Given the description of an element on the screen output the (x, y) to click on. 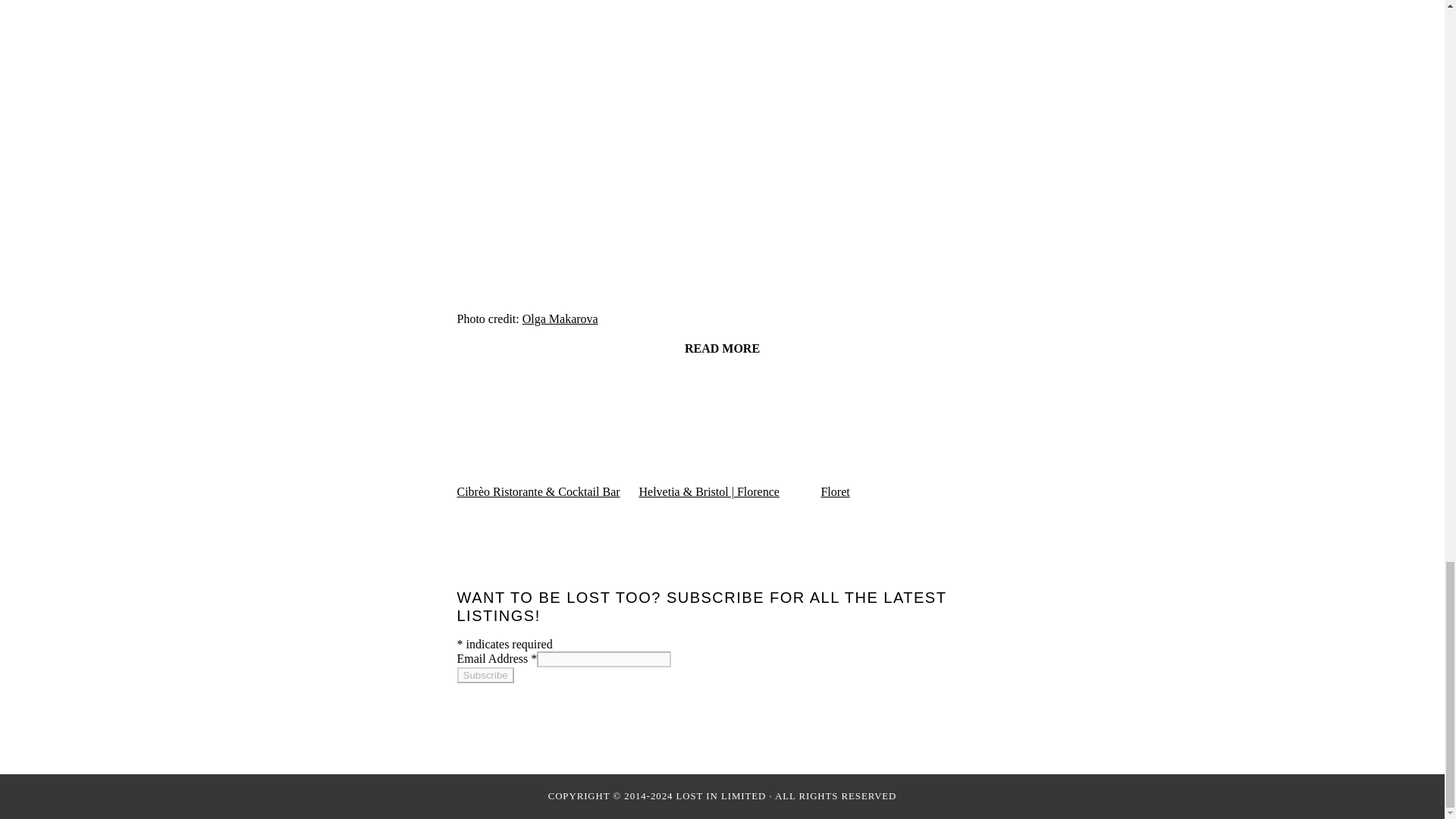
Subscribe (485, 675)
Floret (834, 491)
Olga Makarova (560, 318)
Subscribe (485, 675)
